Given the description of an element on the screen output the (x, y) to click on. 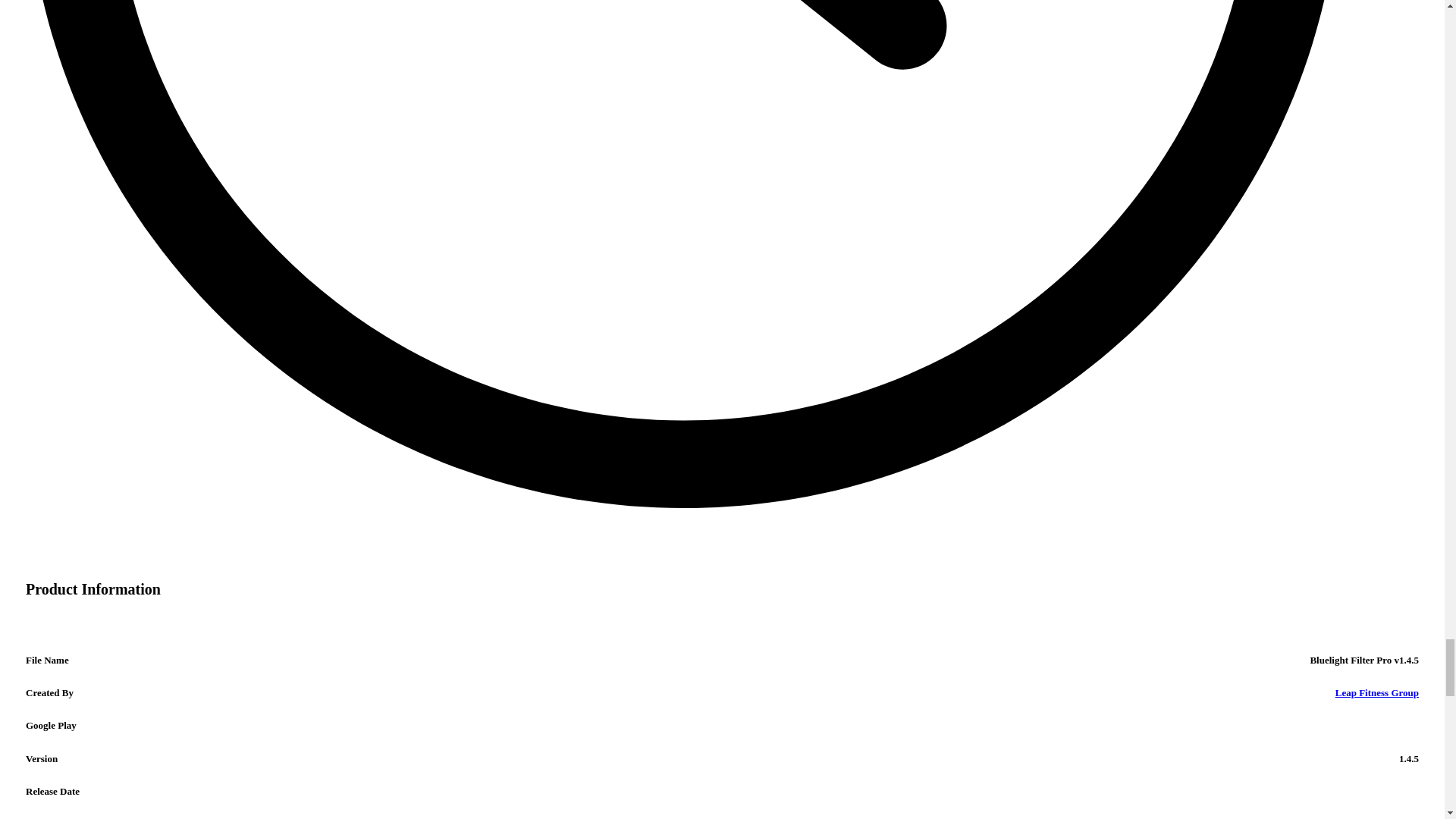
Leap Fitness Group (1376, 692)
